Given the description of an element on the screen output the (x, y) to click on. 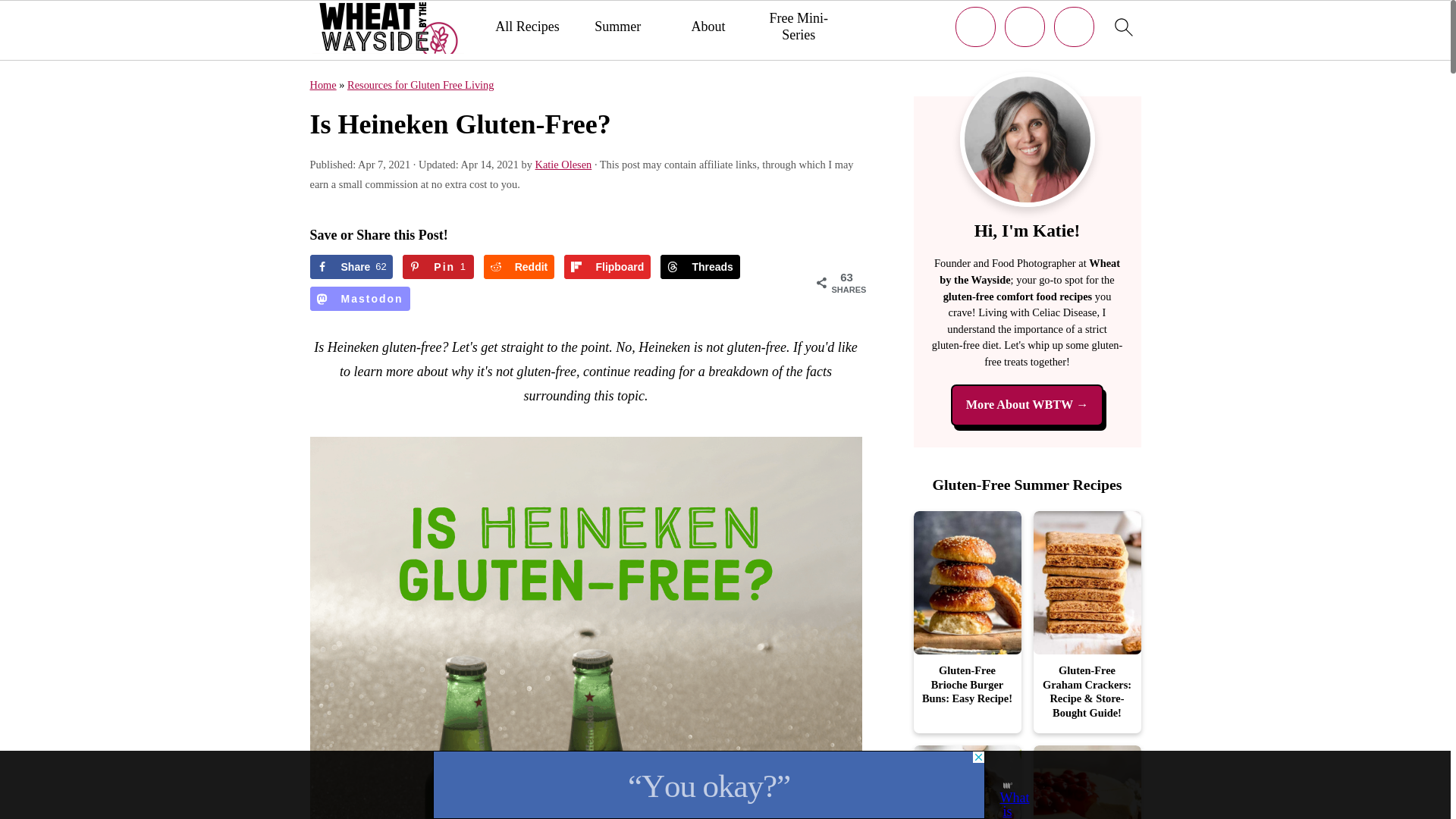
Share on Flipboard (607, 266)
Threads (700, 266)
Katie Olesen (563, 164)
Free Mini-Series (798, 26)
Mastodon (358, 298)
Reddit (438, 266)
Share on Facebook (518, 266)
Share on Threads (350, 266)
Resources for Gluten Free Living (700, 266)
search icon (420, 84)
About (350, 266)
Save to Pinterest (1122, 26)
